Given the description of an element on the screen output the (x, y) to click on. 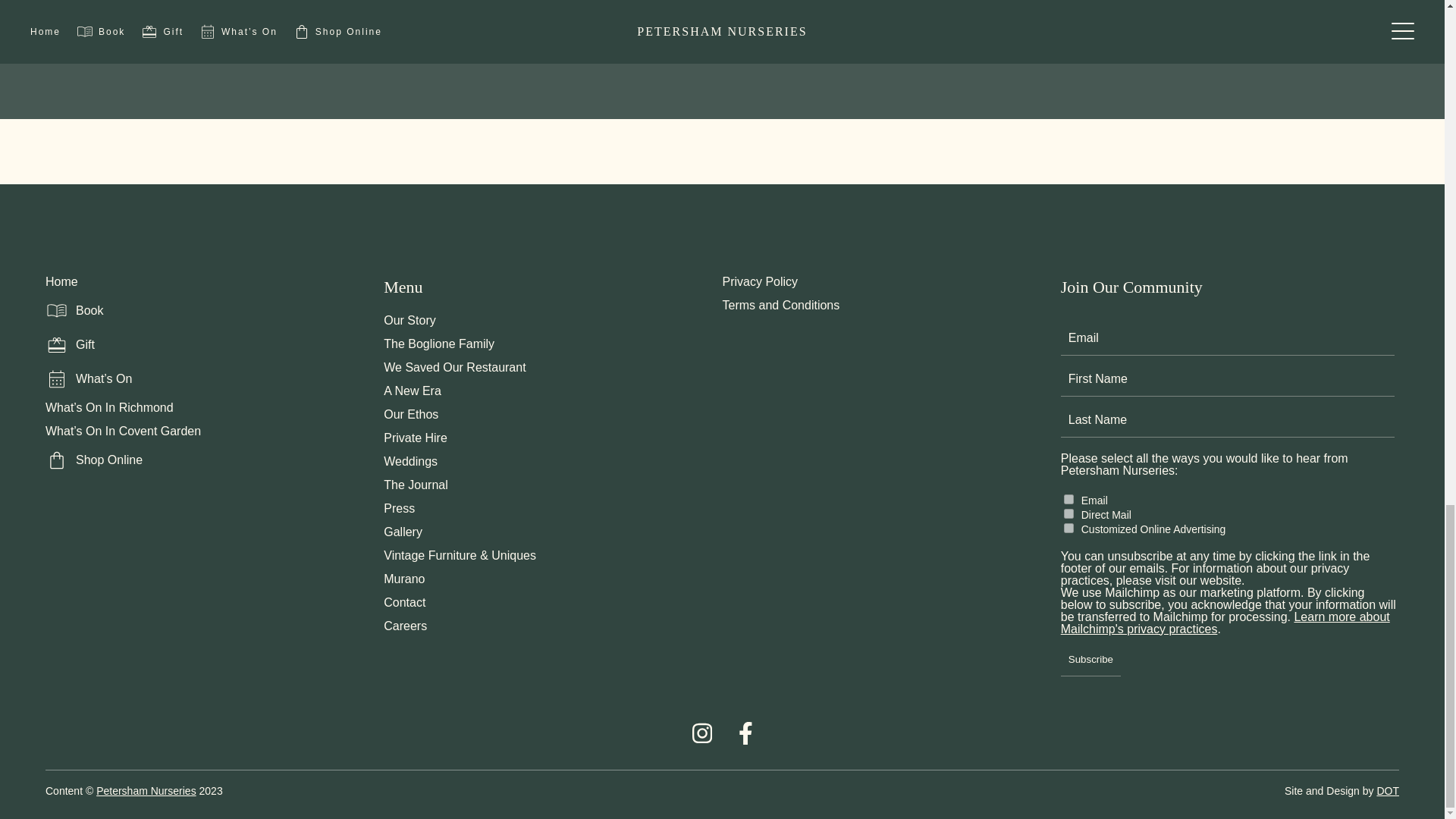
Y (1069, 513)
facebook (745, 739)
instagram (701, 739)
Y (1069, 499)
Subscribe (1091, 655)
